Given the description of an element on the screen output the (x, y) to click on. 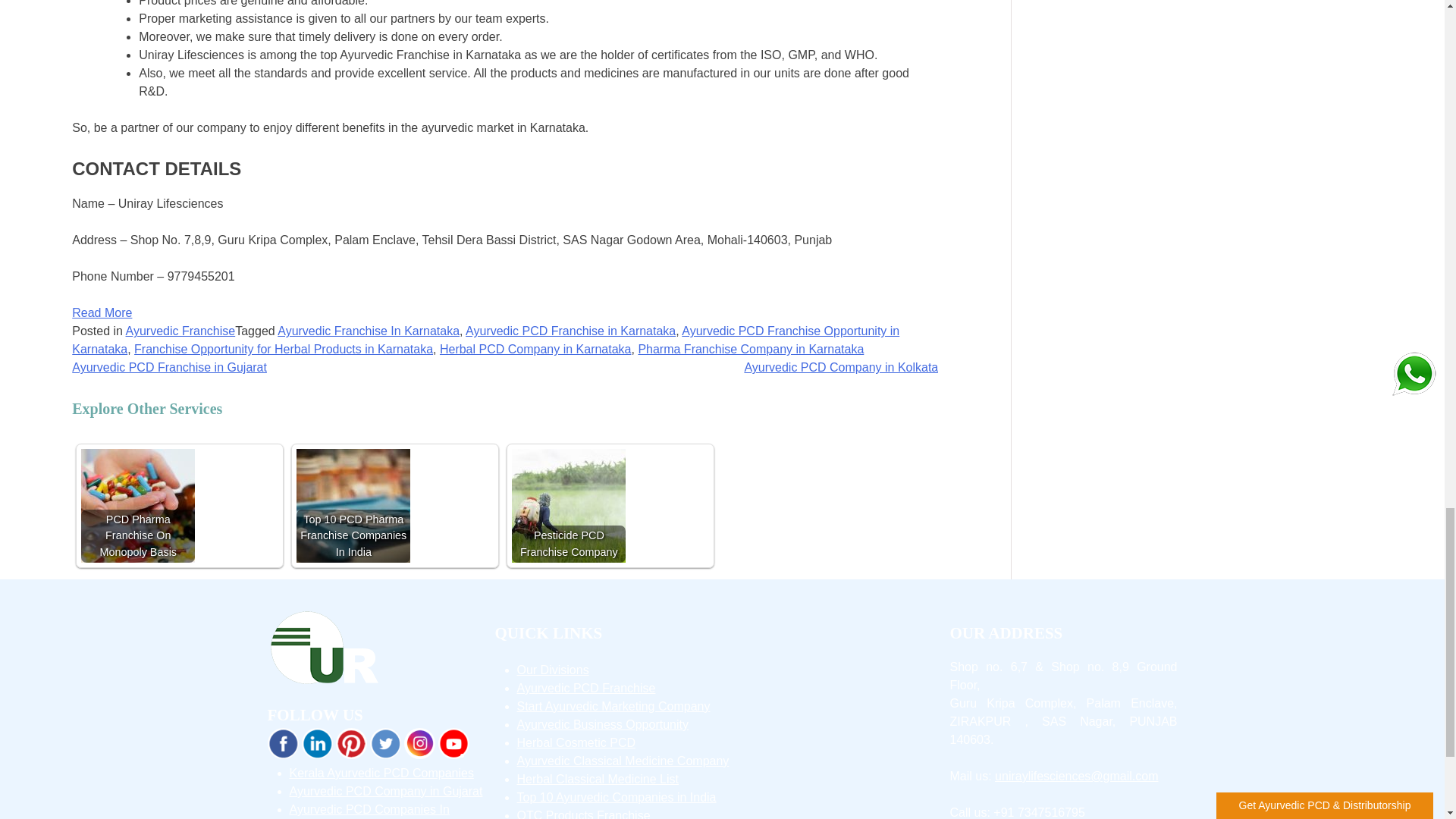
Pesticide PCD Franchise Company (569, 505)
Ayurvedic PCD Franchise in Karnataka (570, 330)
Ayurvedic Franchise In Karnataka (369, 330)
PCD Pharma Franchise On Monopoly Basis (138, 505)
Top 10 PCD Pharma Franchise Companies In India (353, 505)
Read More (101, 312)
Ayurvedic Franchise (180, 330)
